Given the description of an element on the screen output the (x, y) to click on. 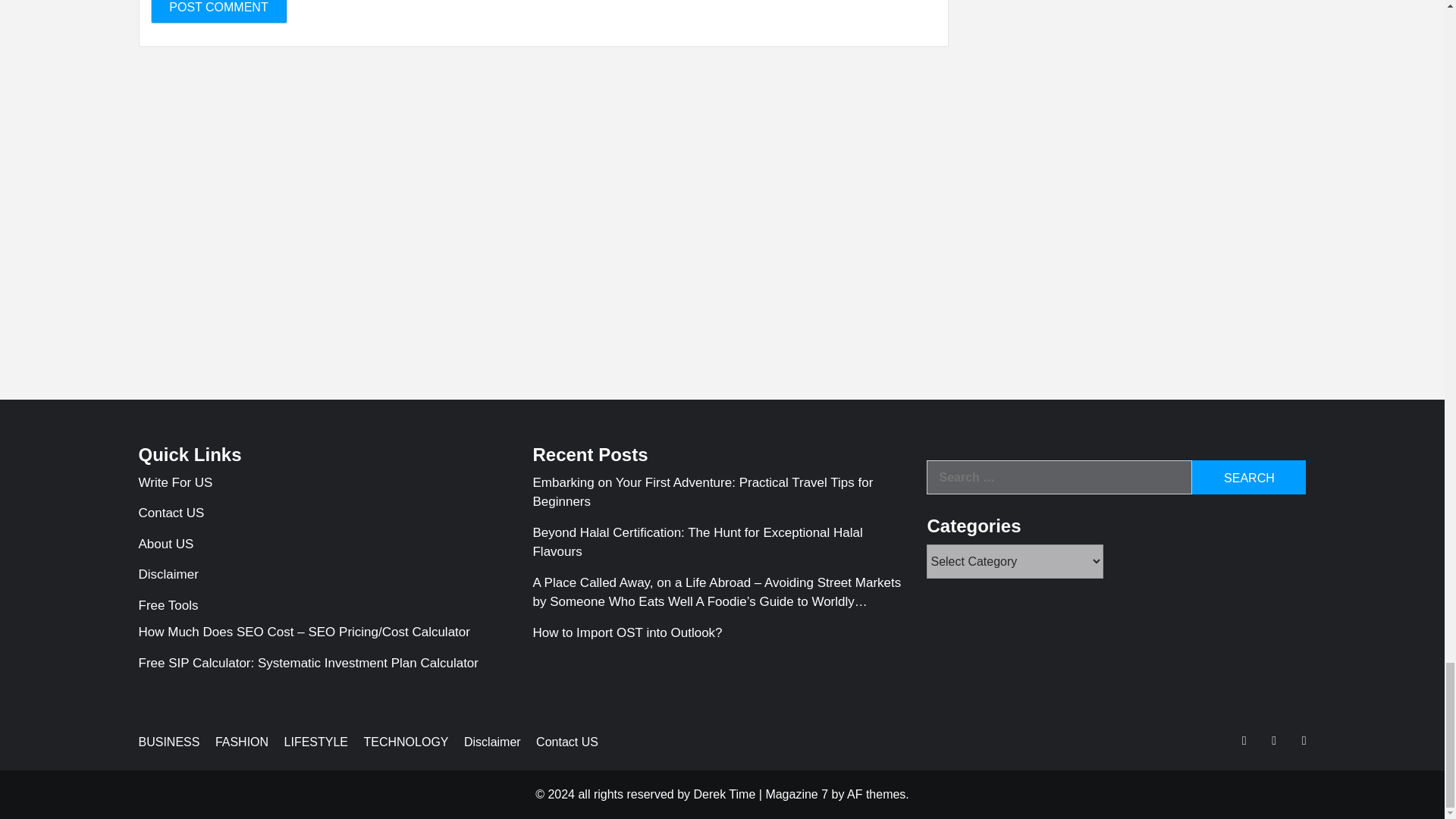
Search (1249, 477)
Search (1249, 477)
Post Comment (217, 11)
